Given the description of an element on the screen output the (x, y) to click on. 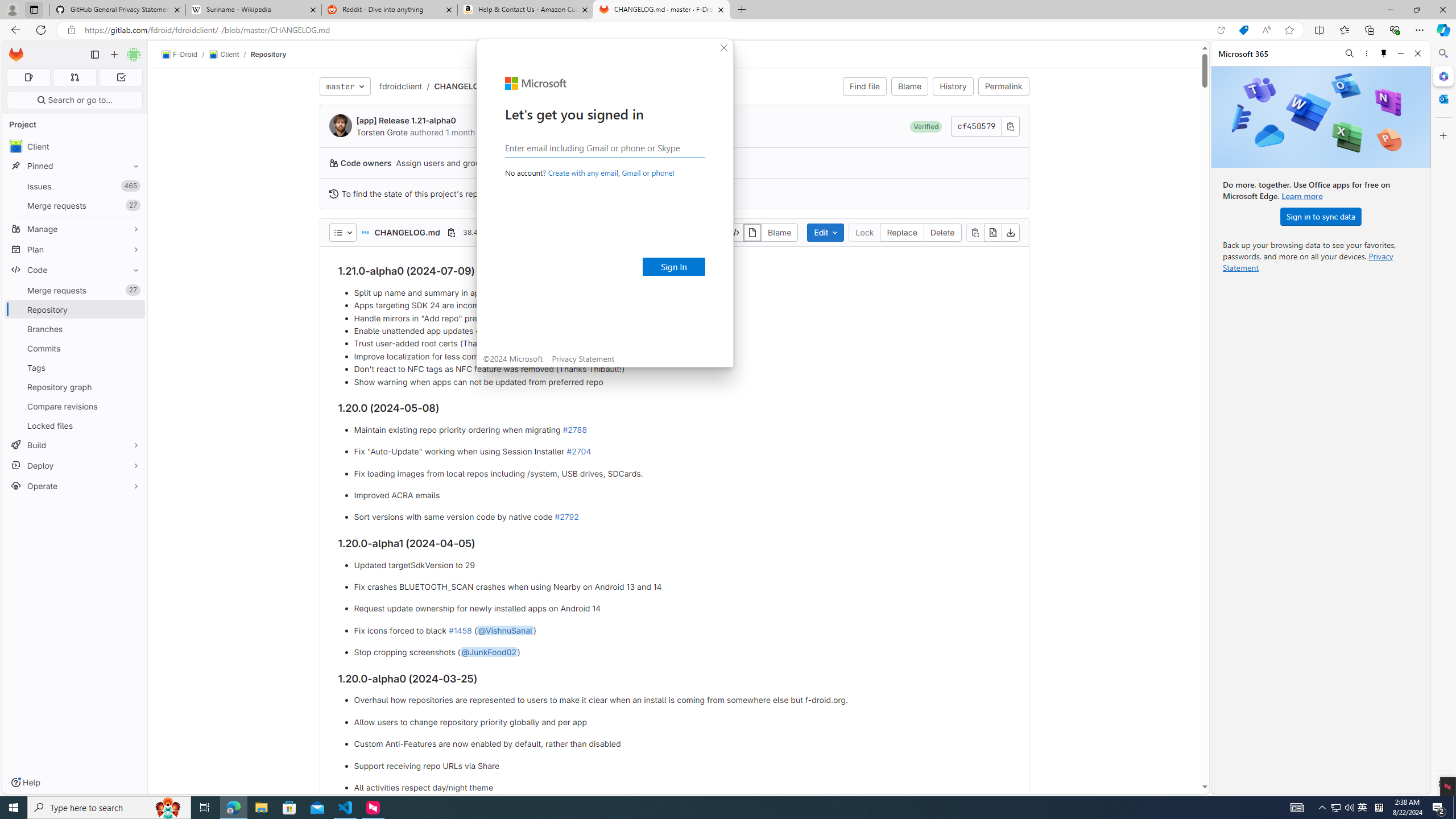
Plan (74, 248)
Class: s16 gl-icon gl-button-icon  (1010, 126)
Create with any email, Gmail or phone! (611, 172)
Q2790: 100% (1349, 807)
Suriname - Wikipedia (253, 9)
Search (1442, 53)
File Explorer (261, 807)
Tags (74, 367)
Add this page to favorites (Ctrl+D) (1289, 29)
Fix "Auto-Update" working when using Session Installer #2704 (681, 451)
To-Do list 0 (120, 76)
#2792 (566, 516)
